Given the description of an element on the screen output the (x, y) to click on. 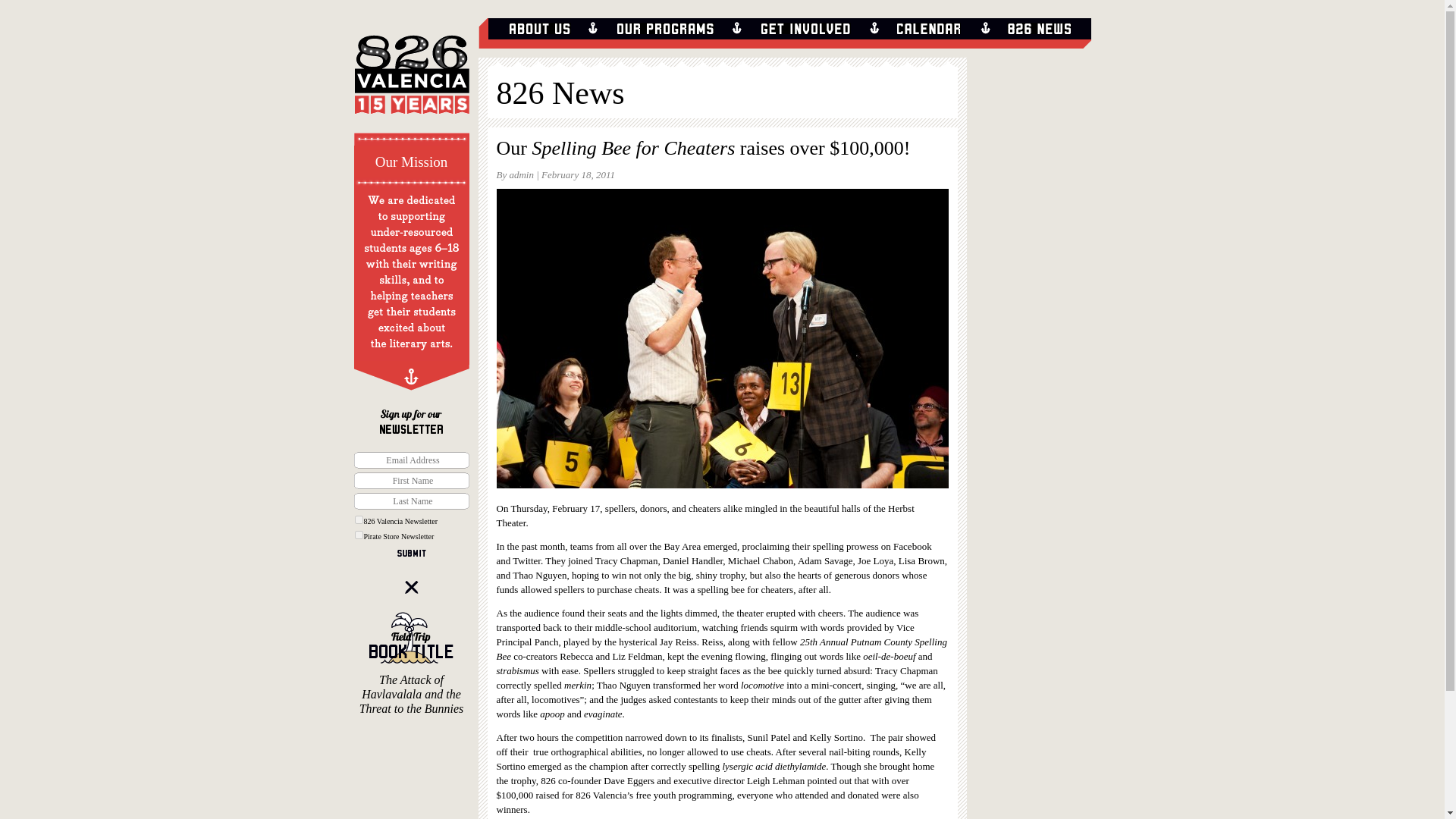
Get Involved (805, 28)
826 News (1039, 28)
Our Programs (665, 28)
2 (357, 534)
826 News (560, 93)
826 Valencia (410, 81)
The Attack of Havlavalala and the Threat to the Bunnies (410, 663)
Calendar (927, 28)
826 Valencia (410, 81)
1 (357, 519)
submit (411, 552)
submit (411, 552)
About Us (539, 28)
